Given the description of an element on the screen output the (x, y) to click on. 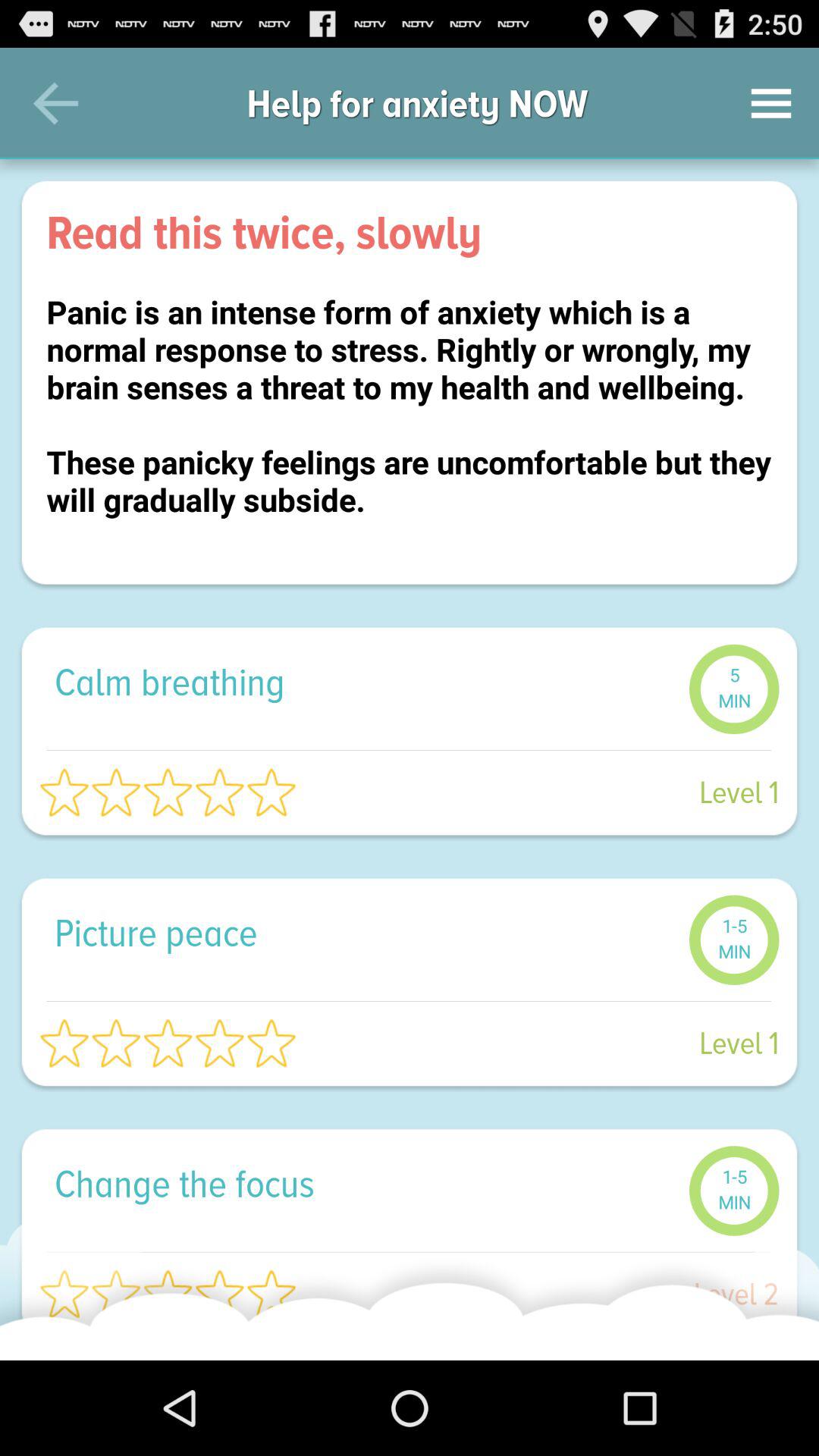
choose the level 2 (546, 1293)
